Given the description of an element on the screen output the (x, y) to click on. 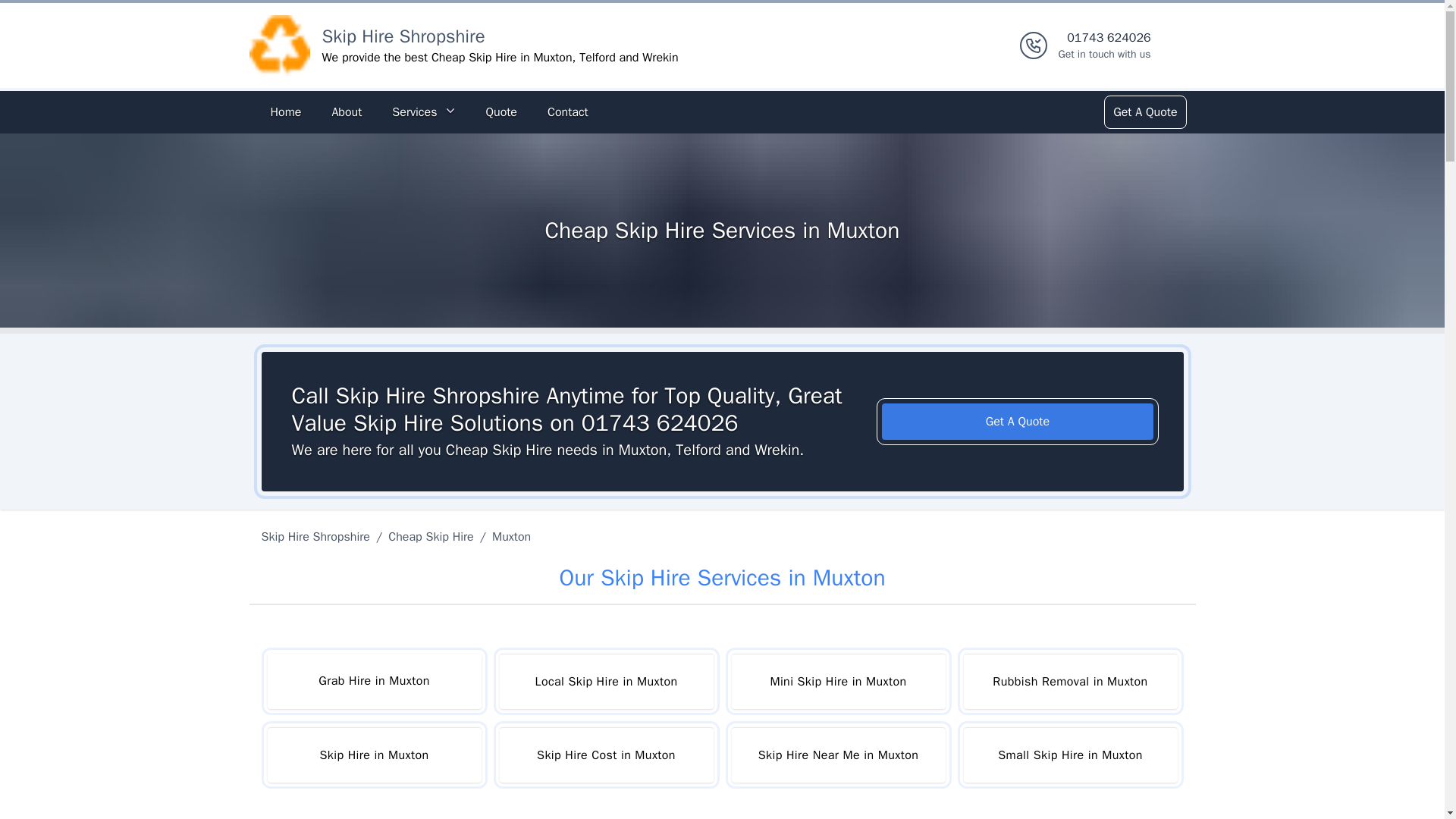
Get A Quote (1017, 421)
Small Skip Hire in Muxton (1069, 754)
Mini Skip Hire in Muxton (837, 681)
About (346, 112)
Skip Hire Cost in Muxton (606, 754)
Home (285, 112)
Skip Hire Near Me in Muxton (837, 754)
Logo (278, 45)
Skip Hire Shropshire (402, 36)
Quote (500, 112)
